Given the description of an element on the screen output the (x, y) to click on. 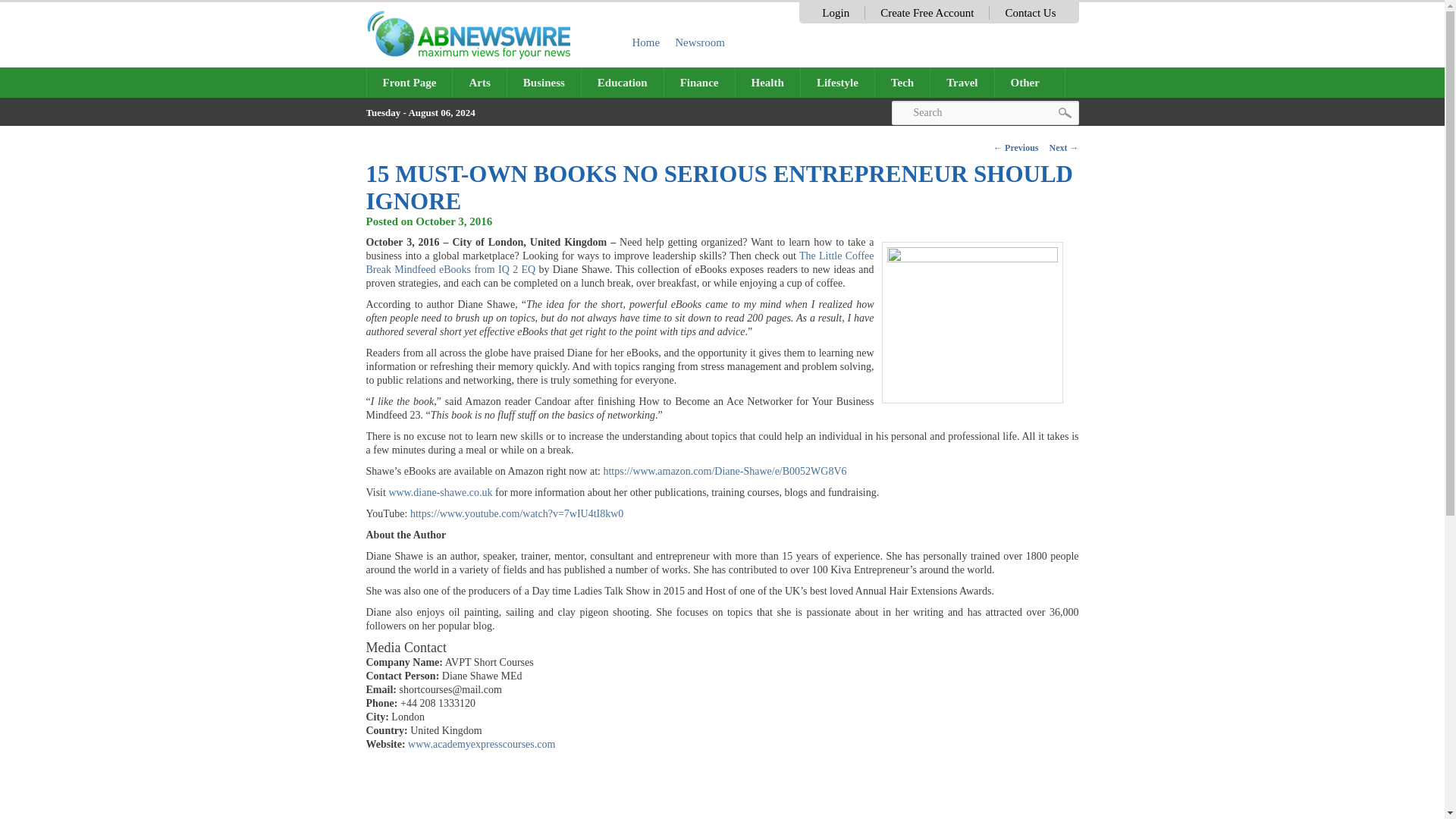
Lifestyle (836, 82)
Arts (478, 82)
Tech (901, 82)
Front Page (409, 82)
Newsroom (700, 42)
Health (767, 82)
Education (622, 82)
Login (835, 12)
Home (646, 42)
Finance (698, 82)
image (971, 322)
Business (544, 82)
Create Free Account (926, 12)
Other (1029, 82)
Contact Us (1030, 12)
